Given the description of an element on the screen output the (x, y) to click on. 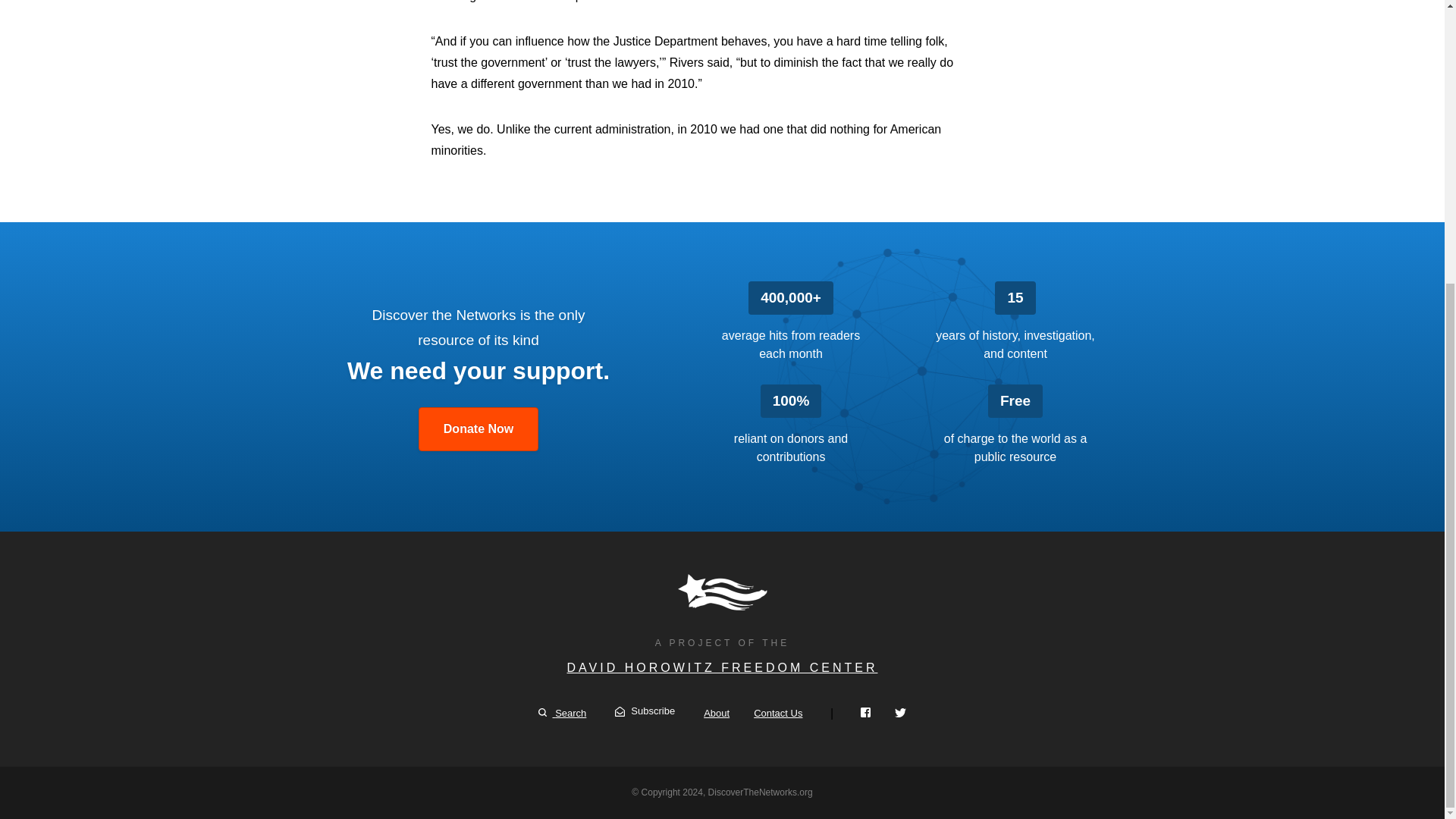
Contact Us (778, 713)
Subscribe (644, 711)
About (716, 713)
Donate Now (478, 429)
Search (562, 713)
DAVID HOROWITZ FREEDOM CENTER (722, 667)
